Given the description of an element on the screen output the (x, y) to click on. 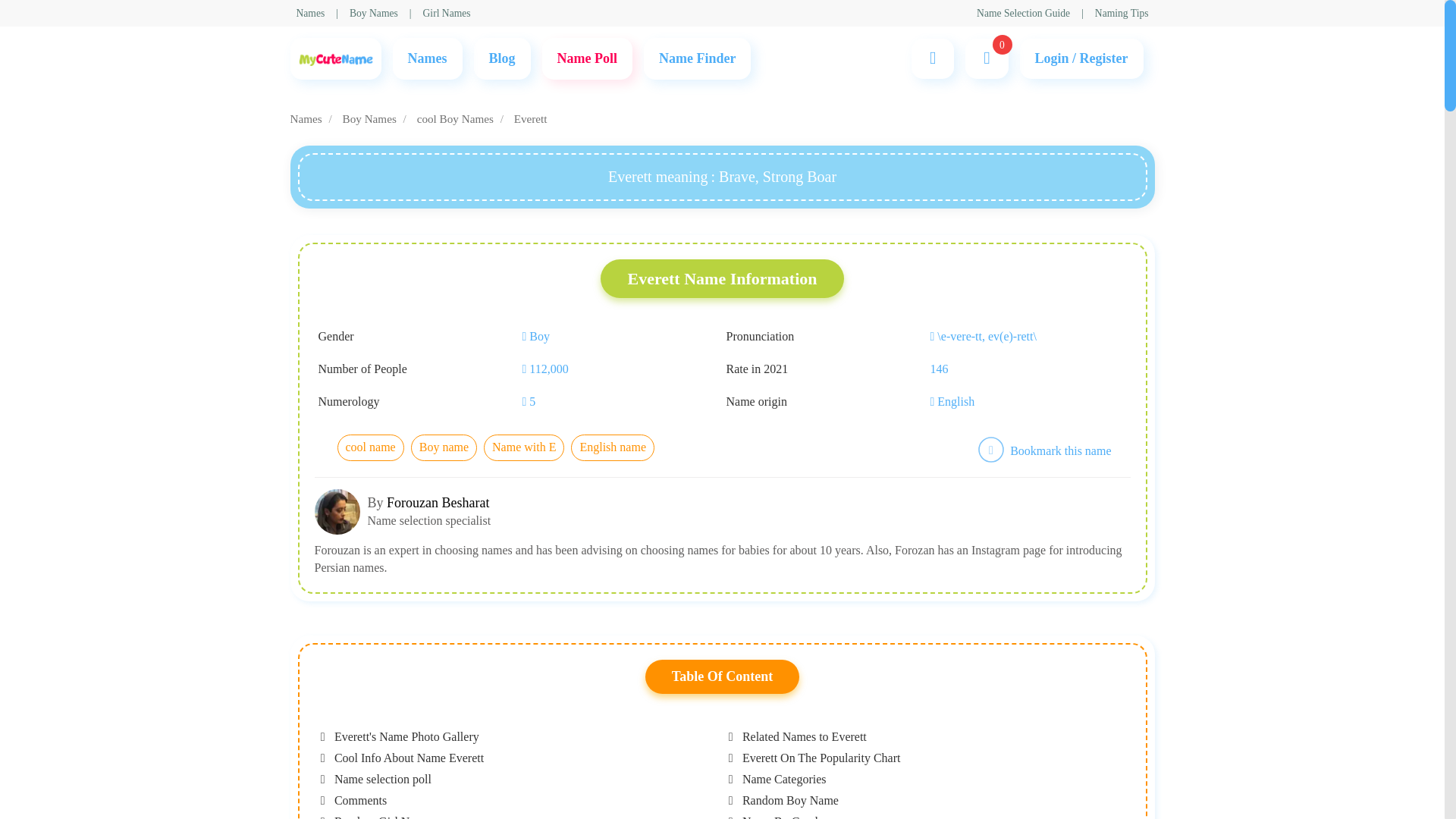
Latin boy's name (509, 254)
Boy Names (532, 254)
Name Poll (586, 58)
Greek girl's name (511, 254)
Name Finder (697, 58)
MyCuteName (334, 58)
Latin girl's name (509, 254)
Girl Names (446, 12)
Blog (501, 58)
American girl's name (520, 254)
American girl's name (520, 254)
Girl Names (532, 258)
Arabic boy's name (513, 254)
Naming Tips (1121, 12)
Greek boy's name (512, 254)
